Given the description of an element on the screen output the (x, y) to click on. 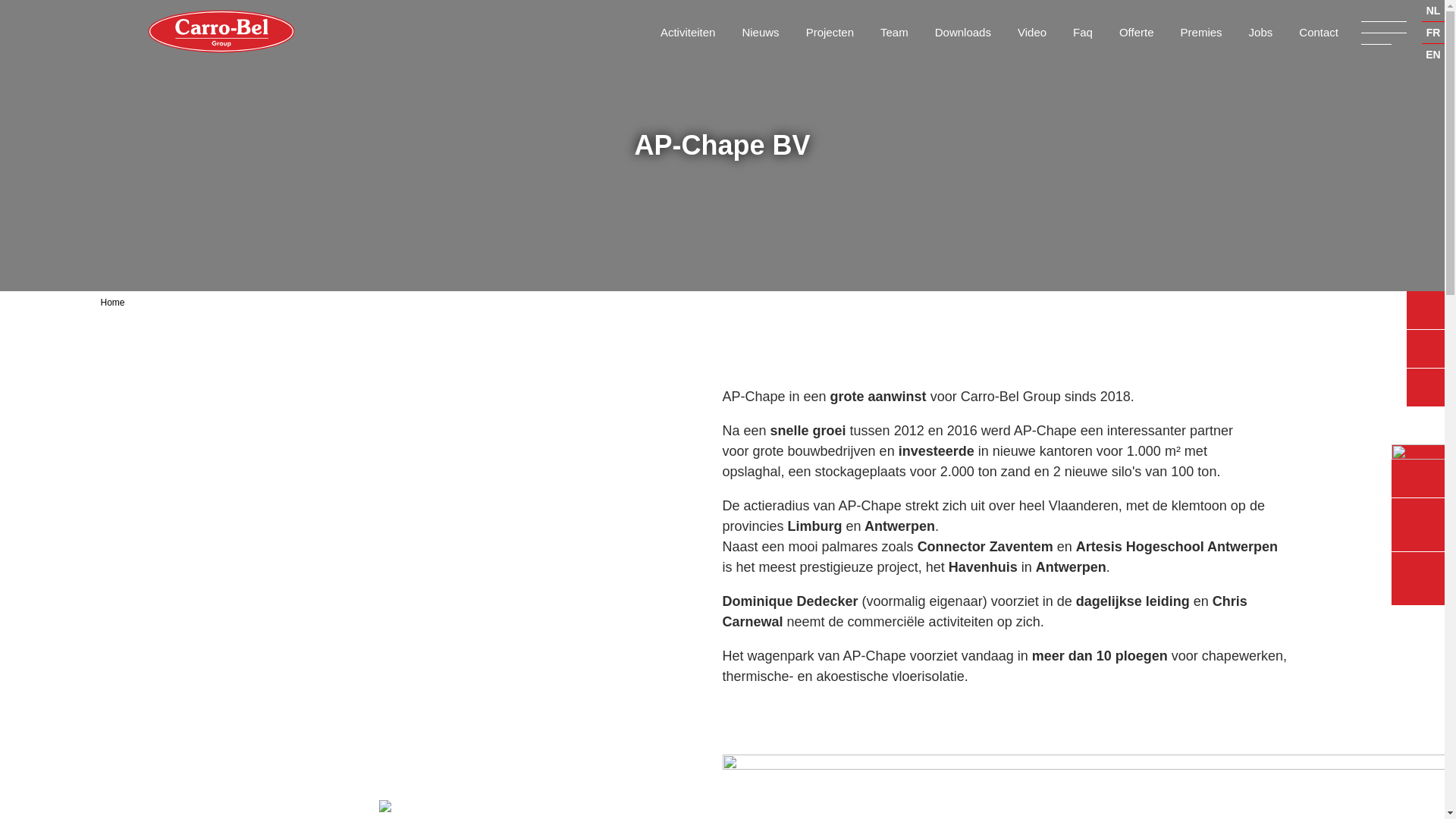
Jobs Element type: text (1260, 31)
Video Element type: text (1031, 31)
Premies Element type: text (1201, 31)
Downloads Element type: text (963, 31)
Projecten Element type: text (829, 31)
Team Element type: text (894, 31)
NL Element type: text (1432, 10)
mail Element type: text (1417, 578)
Offerte Element type: text (1136, 31)
Nieuws Element type: text (759, 31)
mail Element type: text (1417, 524)
Faq Element type: text (1082, 31)
Overslaan en naar de inhoud gaan Element type: text (105, 0)
Activiteiten Element type: text (687, 31)
Contact Element type: text (1318, 31)
EN Element type: text (1432, 54)
FR Element type: text (1432, 32)
Home Element type: text (127, 302)
